Given the description of an element on the screen output the (x, y) to click on. 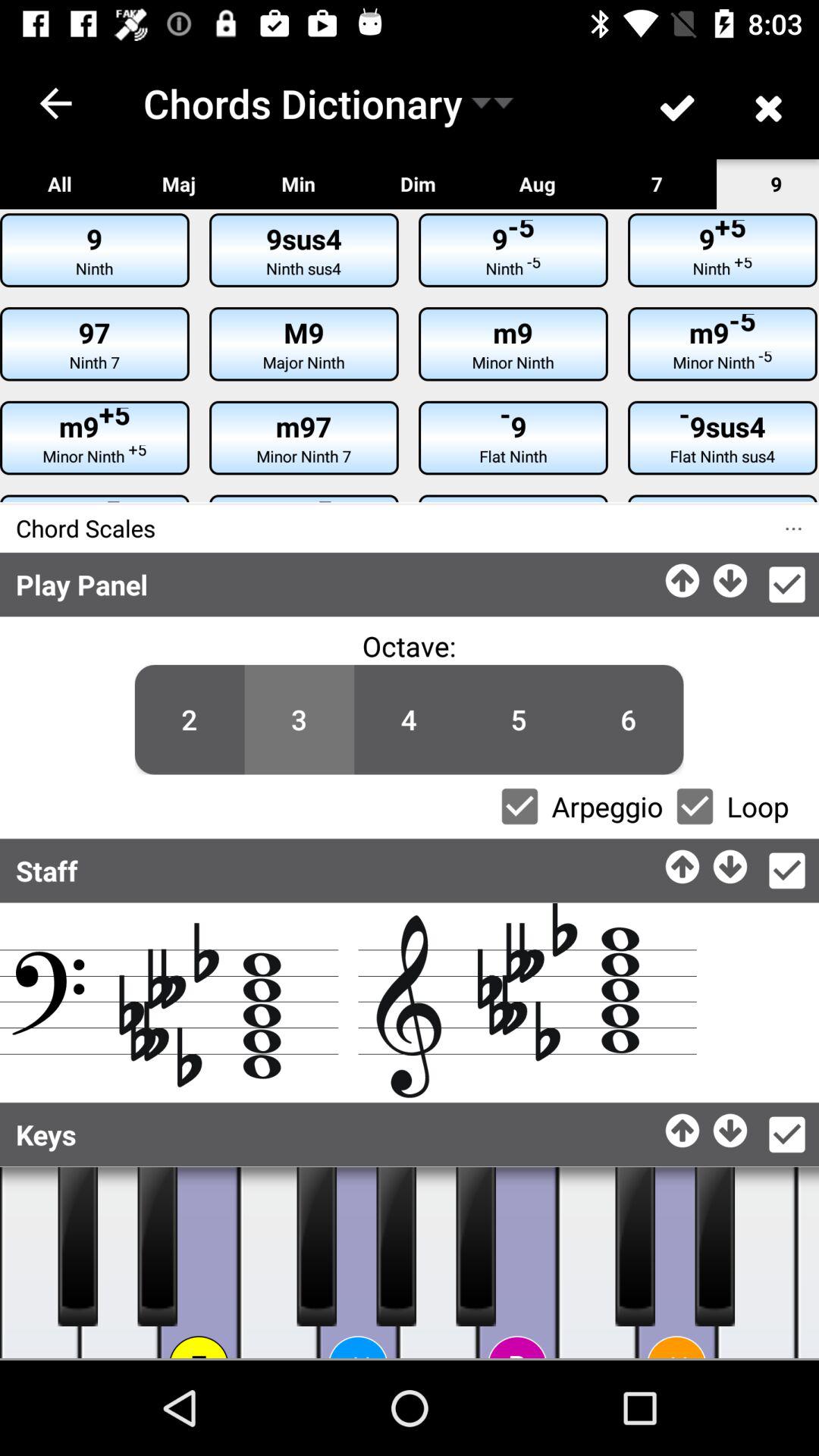
save configurations (787, 584)
